Given the description of an element on the screen output the (x, y) to click on. 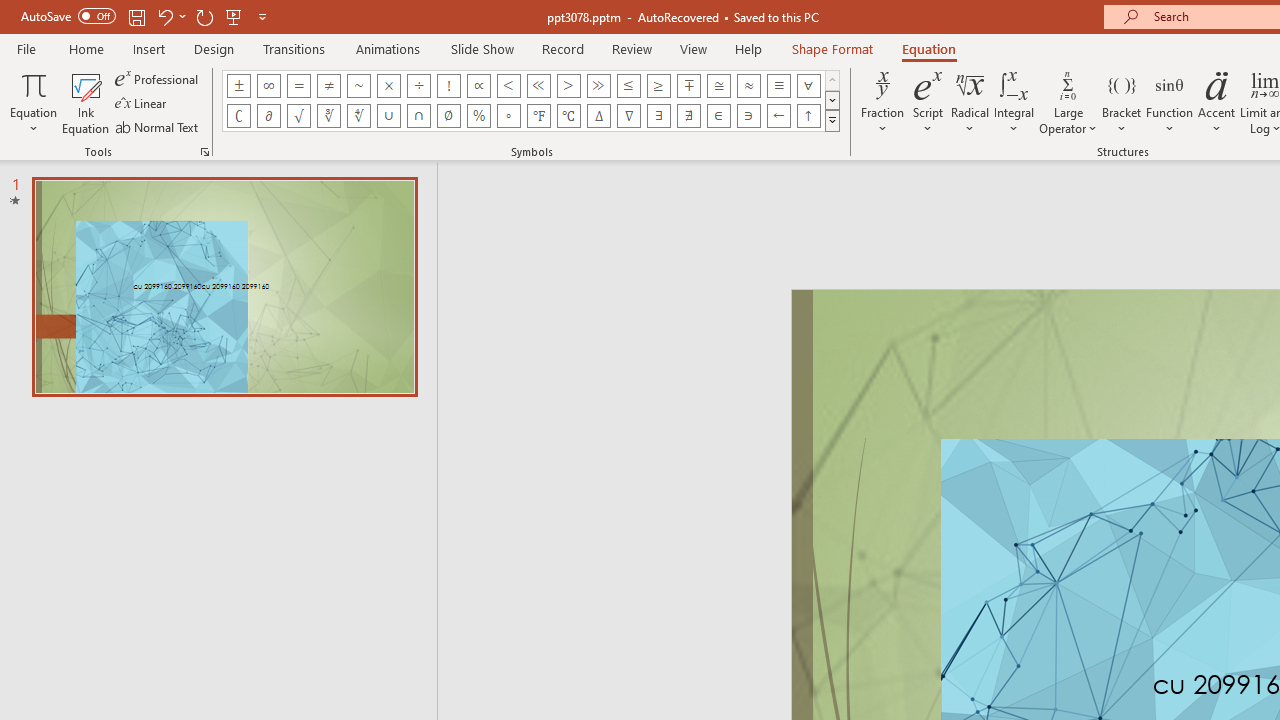
Equation Symbol Less Than or Equal To (628, 85)
Fraction (882, 102)
Equation Symbol Percentage (478, 115)
Equation Symbol Multiplication Sign (388, 85)
Equation Symbol Nabla (628, 115)
Equation Symbol Element Of (718, 115)
Script (927, 102)
Equation Symbol Much Less Than (538, 85)
Equation Symbol Greater Than or Equal To (658, 85)
Accent (1216, 102)
